Given the description of an element on the screen output the (x, y) to click on. 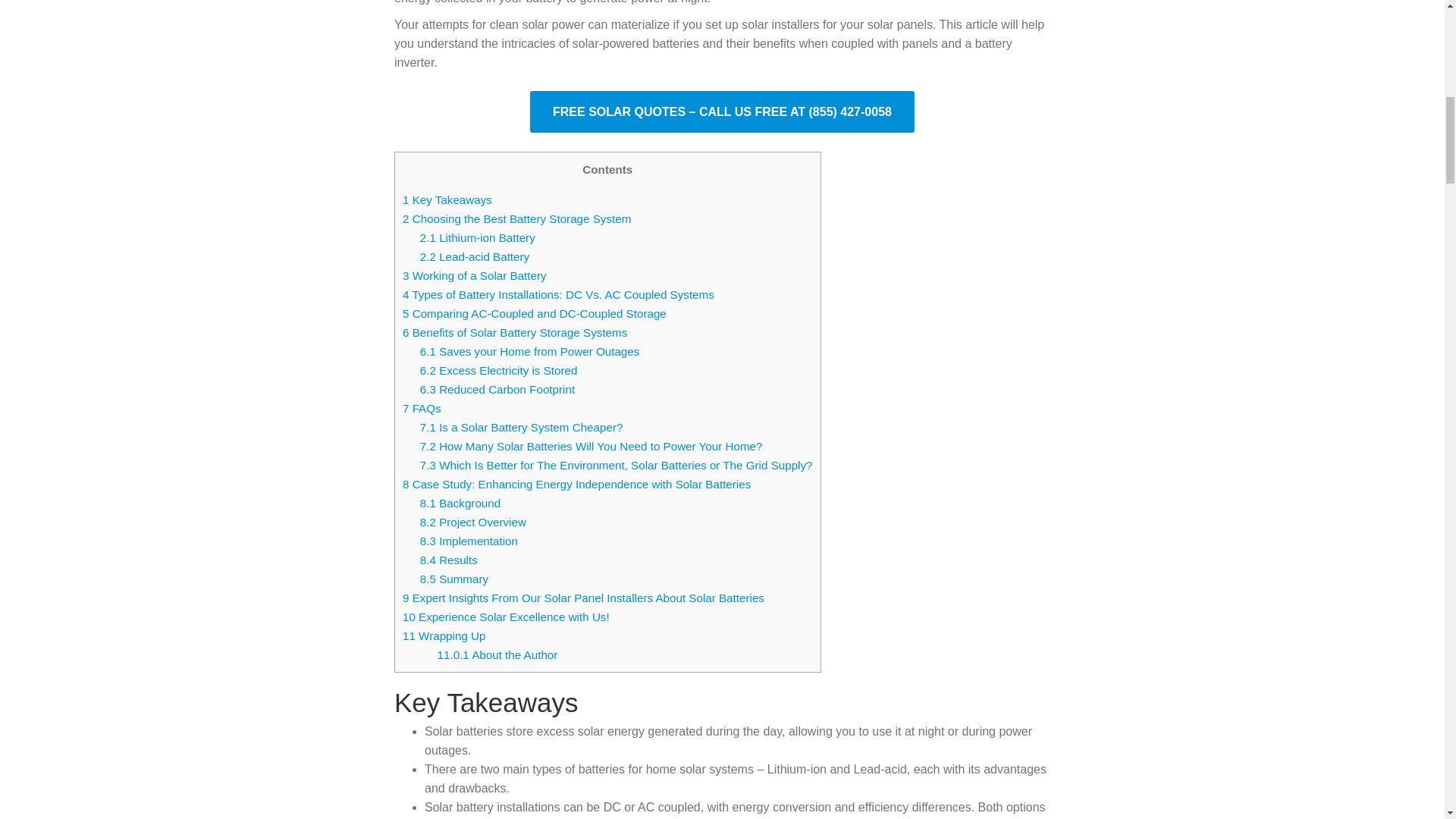
4 Types of Battery Installations: DC Vs. AC Coupled Systems (558, 294)
1 Key Takeaways (447, 199)
7 FAQs (422, 408)
8.2 Project Overview (472, 521)
5 Comparing AC-Coupled and DC-Coupled Storage (534, 313)
3 Working of a Solar Battery (475, 275)
8.3 Implementation (469, 540)
6.1 Saves your Home from Power Outages (530, 350)
11 Wrapping Up (444, 635)
11.0.1 About the Author (497, 654)
10 Experience Solar Excellence with Us! (506, 616)
8.1 Background (460, 502)
